Given the description of an element on the screen output the (x, y) to click on. 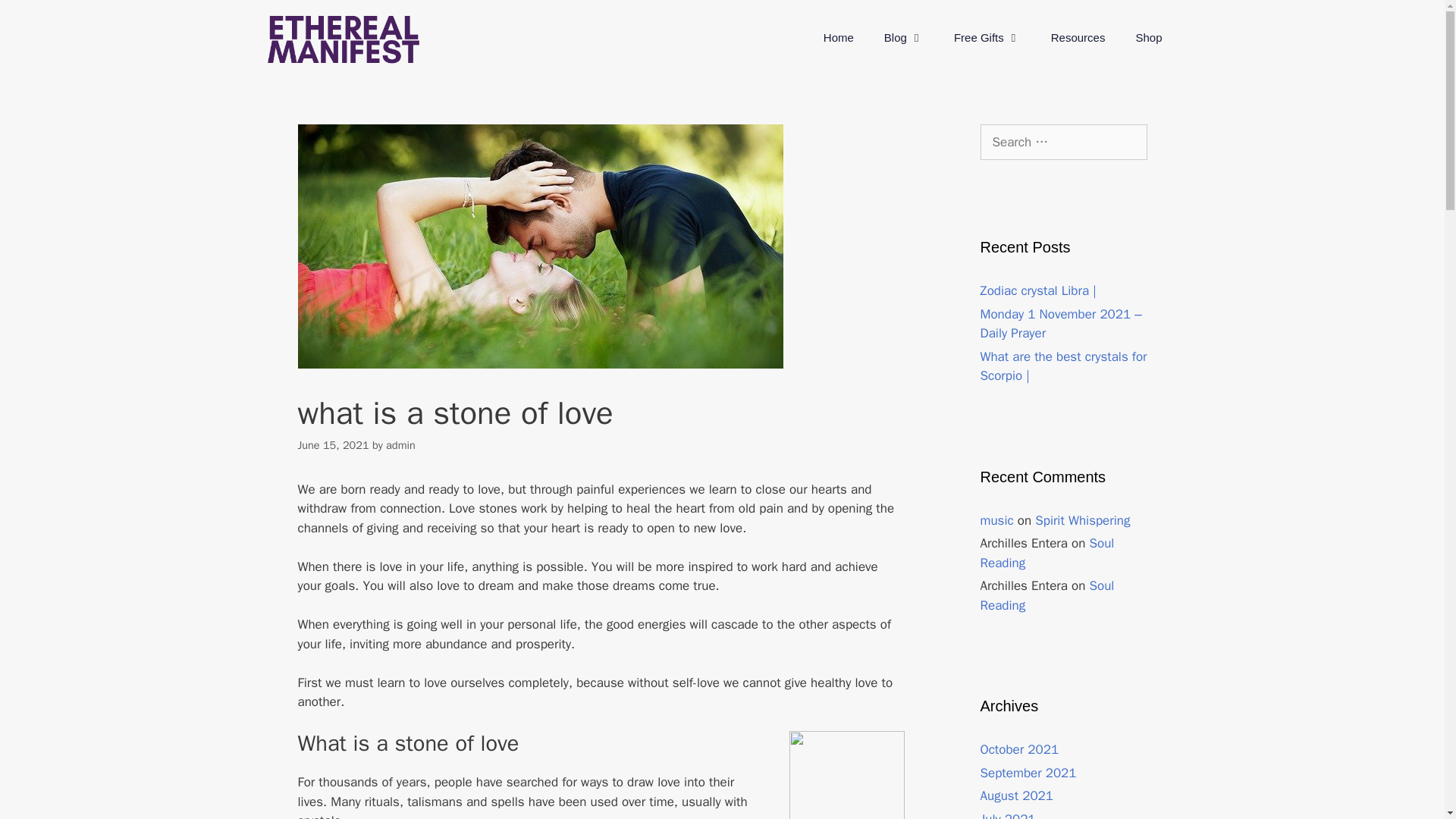
Home (838, 37)
Ethereal Manifest (342, 37)
Resources (1078, 37)
Spirit Whispering (1082, 520)
music (996, 520)
July 2021 (1007, 815)
Ethereal Manifest (342, 39)
Search for: (1063, 142)
View all posts by admin (399, 445)
admin (399, 445)
Soul Reading (1046, 595)
Blog (904, 37)
Search (36, 18)
Soul Reading (1046, 552)
October 2021 (1018, 749)
